Given the description of an element on the screen output the (x, y) to click on. 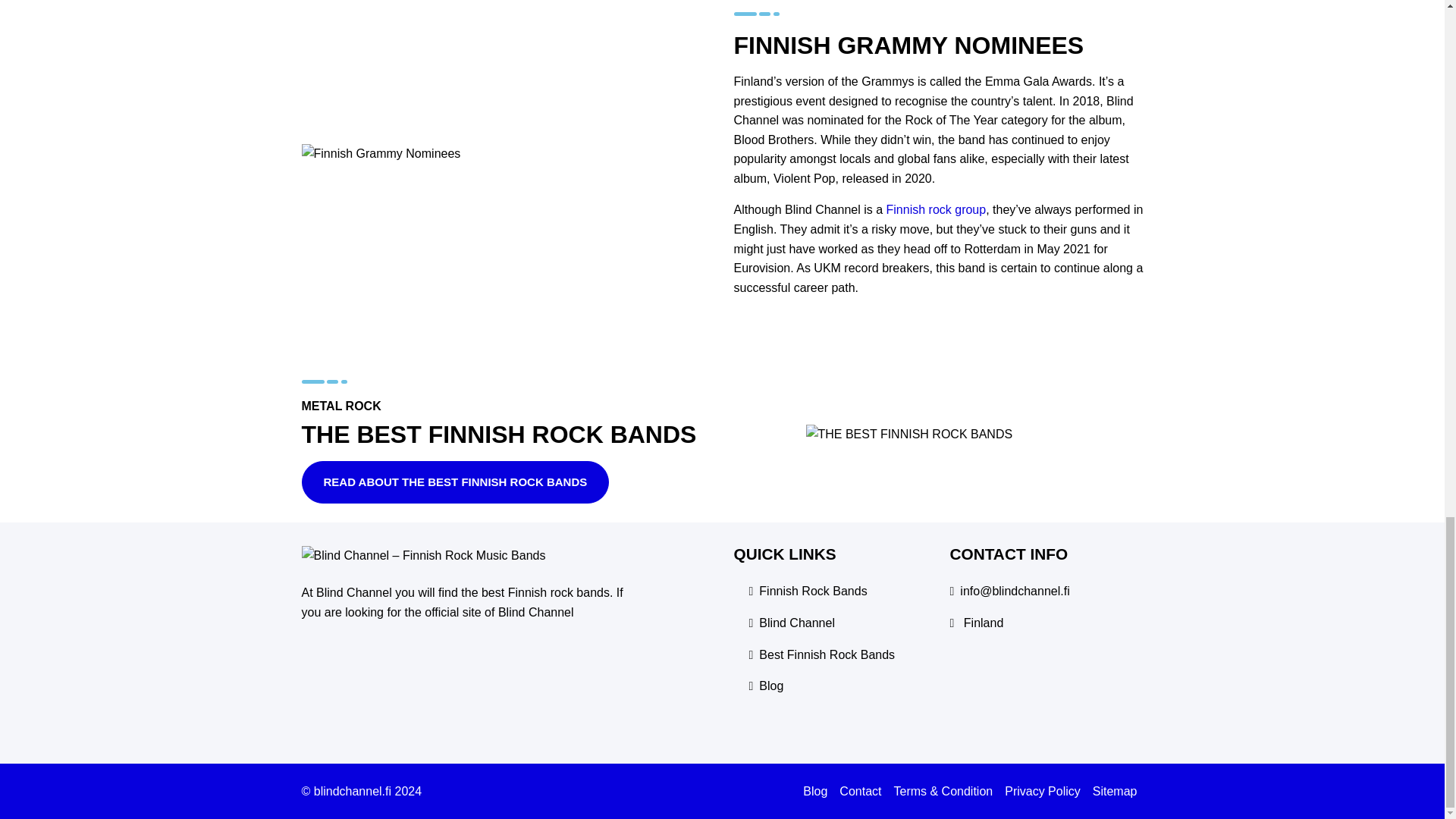
Blog (770, 686)
Blog (814, 791)
Best Finnish Rock Bands (826, 655)
Finnish rock group (936, 209)
READ ABOUT THE BEST FINNISH ROCK BANDS (455, 482)
Blind Channel (796, 623)
Finland (983, 622)
Finnish Rock Bands (812, 591)
Privacy Policy (1042, 791)
Sitemap (1114, 791)
Contact (859, 791)
